Given the description of an element on the screen output the (x, y) to click on. 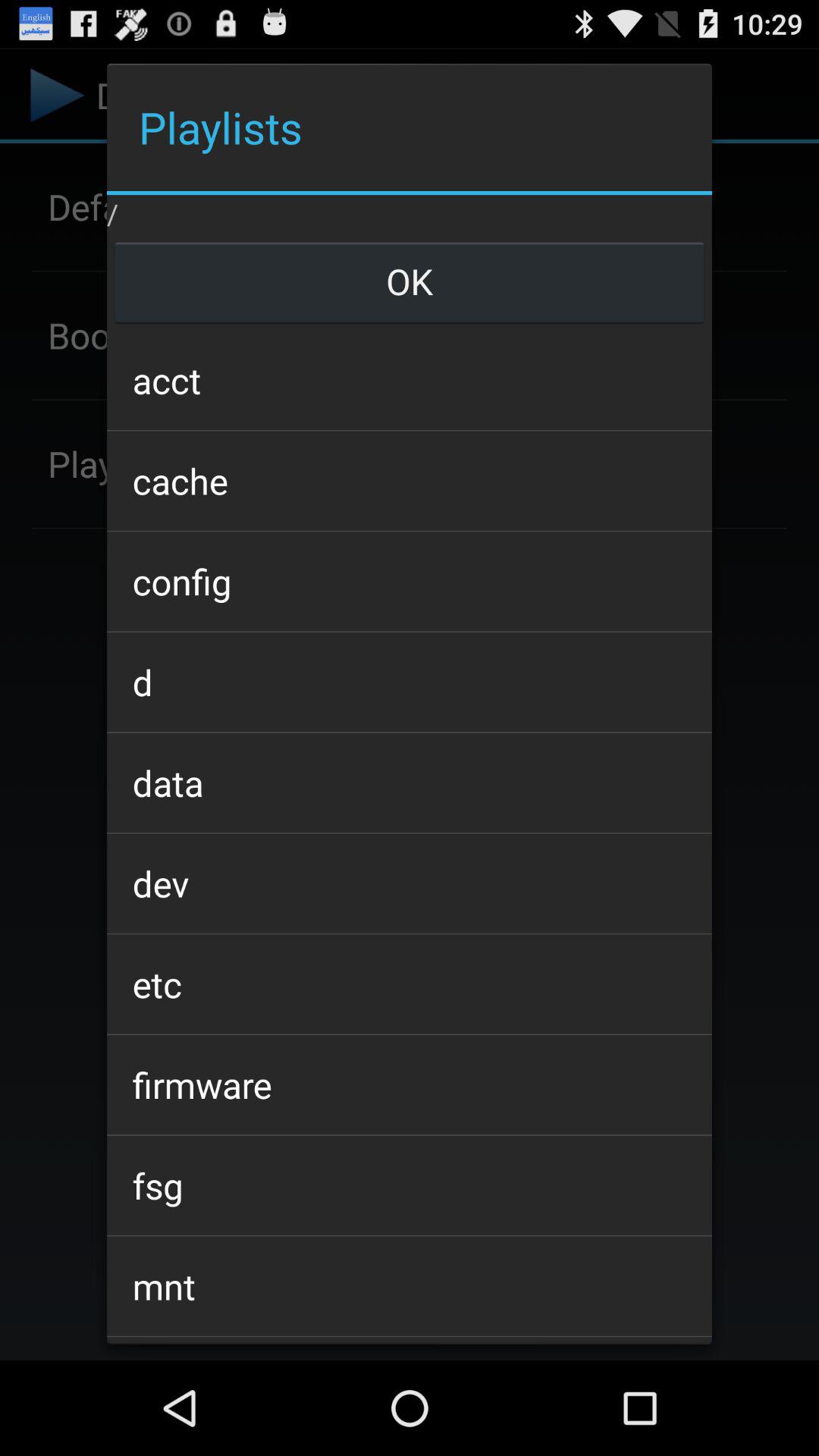
click the cache icon (409, 480)
